Given the description of an element on the screen output the (x, y) to click on. 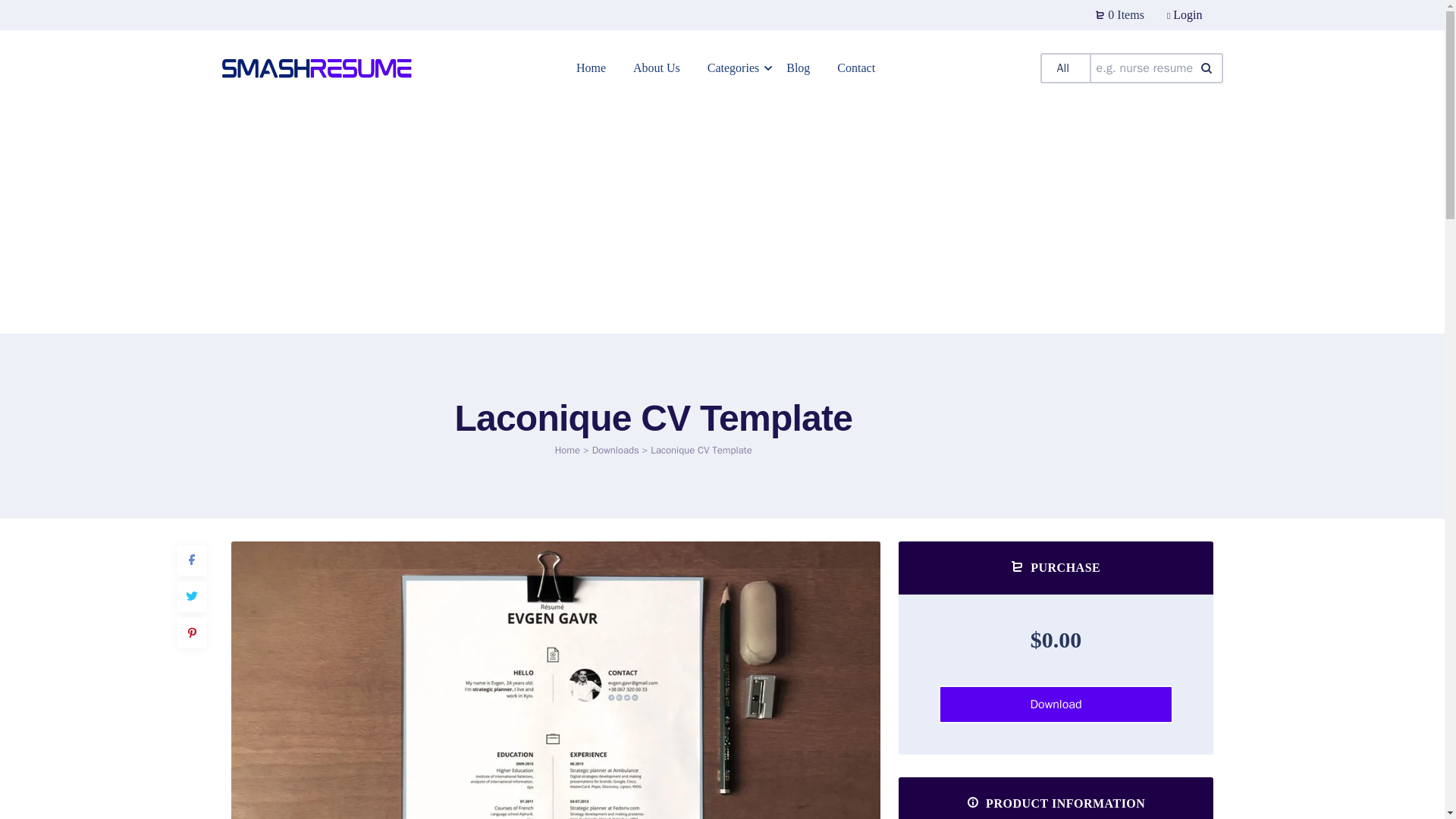
Login (1184, 14)
0 Items (1120, 15)
